Given the description of an element on the screen output the (x, y) to click on. 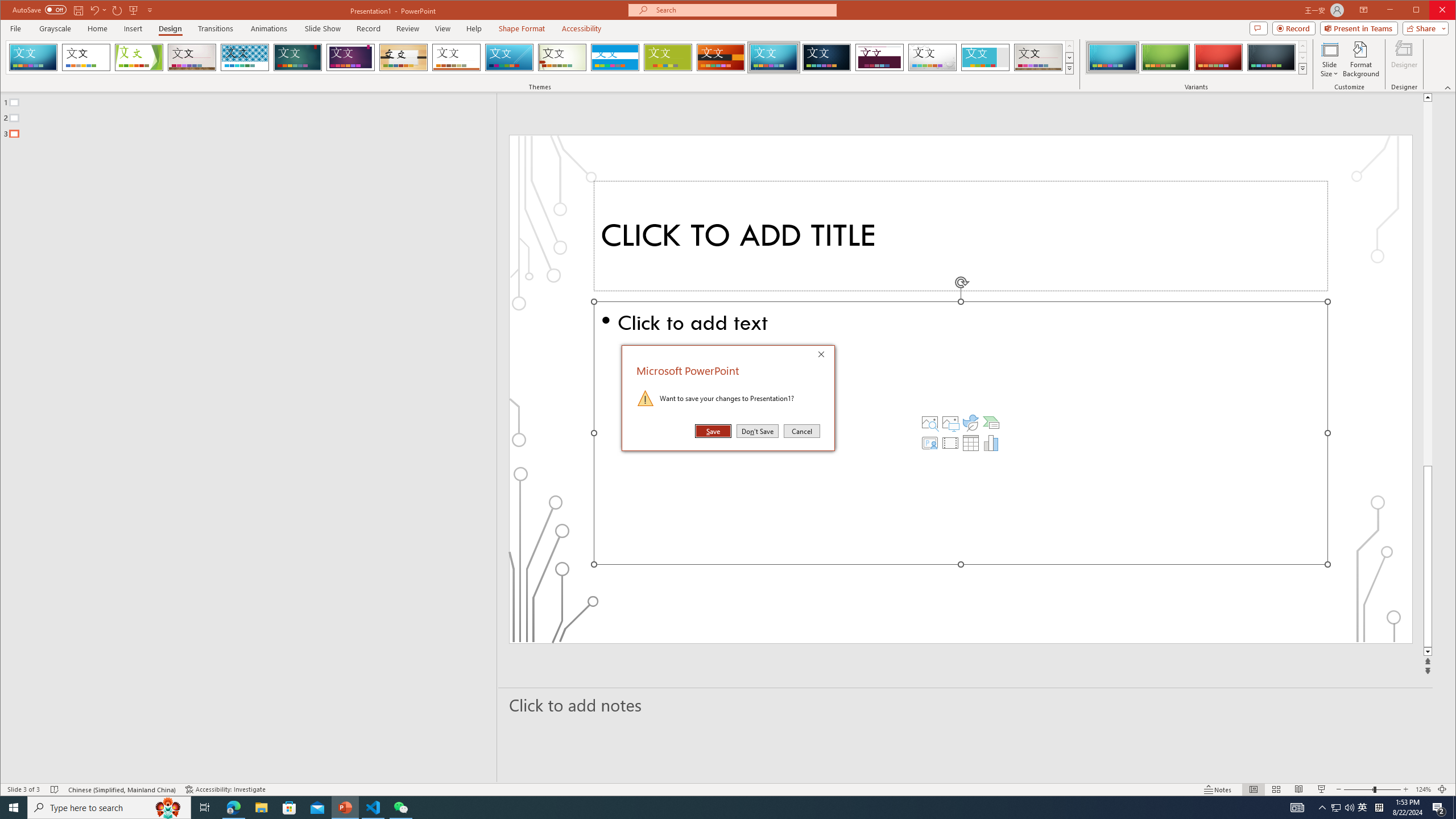
Task View (204, 807)
Circuit Variant 2 (1165, 57)
Maximize (1432, 11)
Ion Boardroom (1335, 807)
Warning Icon (350, 57)
Themes (645, 398)
Integral (1069, 68)
Circuit (244, 57)
Format Background (773, 57)
